Given the description of an element on the screen output the (x, y) to click on. 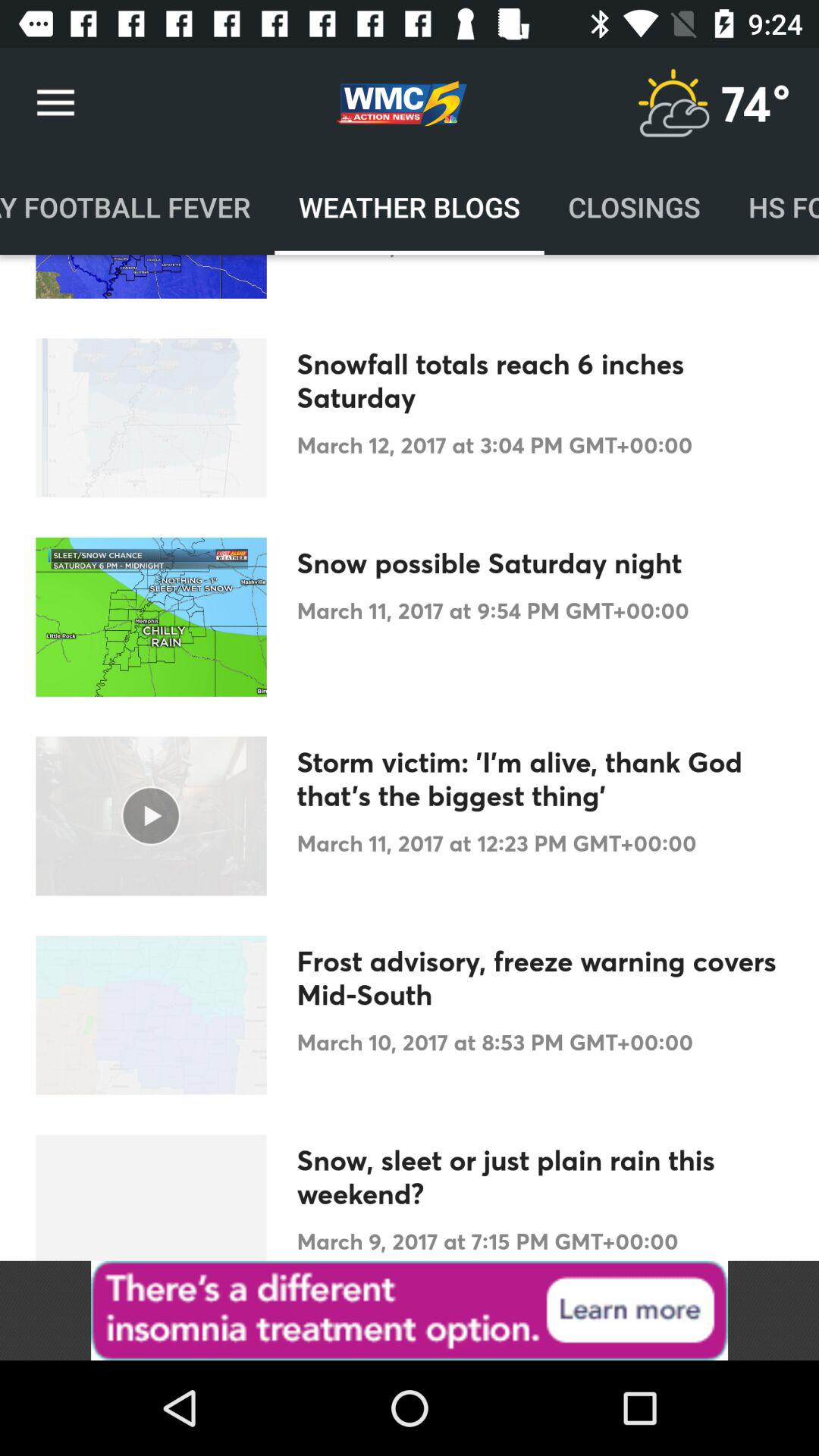
current weather condition icon (673, 103)
